Given the description of an element on the screen output the (x, y) to click on. 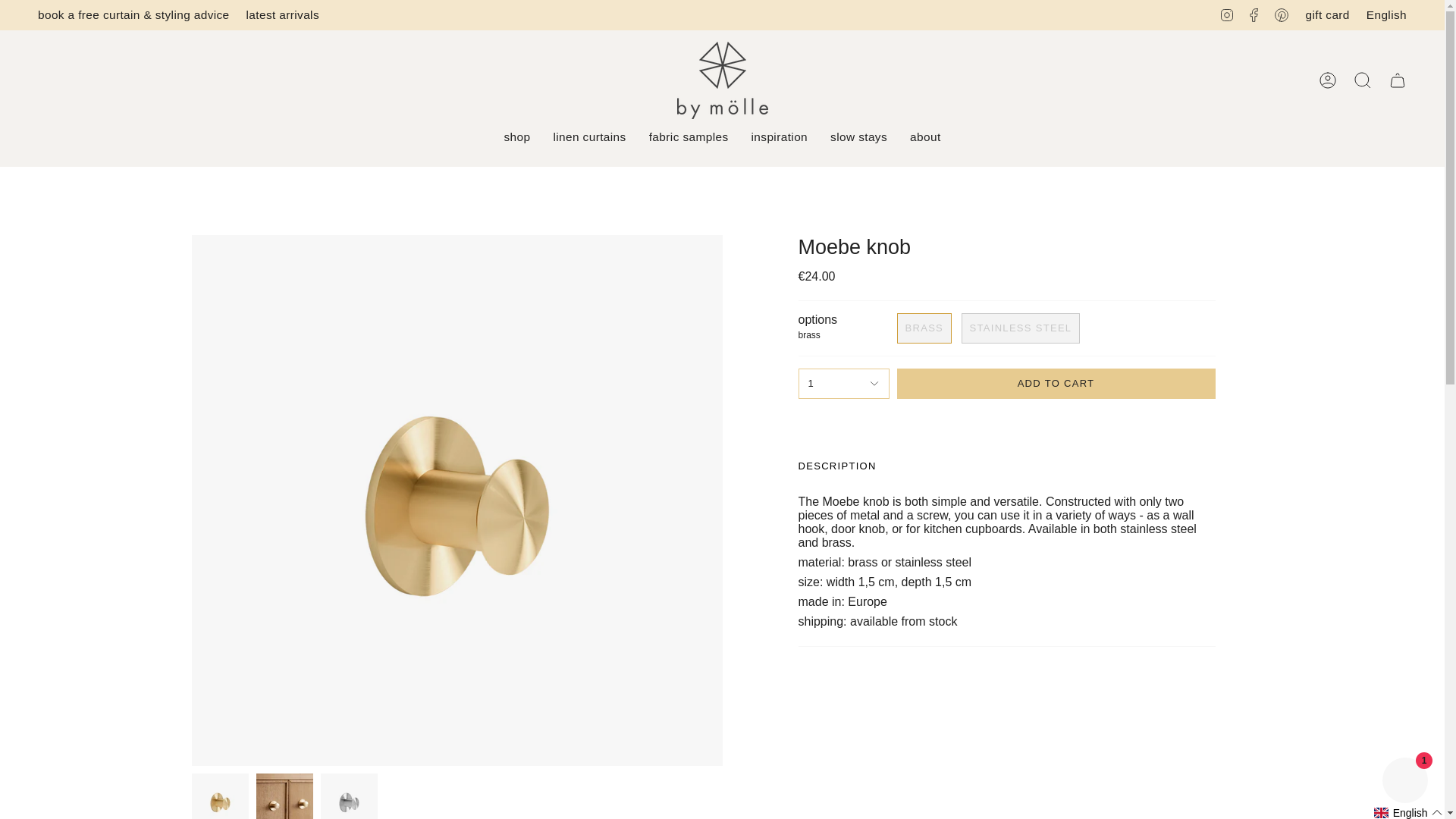
gift card (1327, 15)
Account (1327, 80)
Cart (1397, 80)
Search (1362, 80)
shop (516, 136)
Pinterest (1281, 13)
latest arrivals (282, 14)
Instagram (1227, 13)
Facebook (1254, 13)
English (1386, 14)
My Account (1327, 80)
Cart (1397, 80)
